Given the description of an element on the screen output the (x, y) to click on. 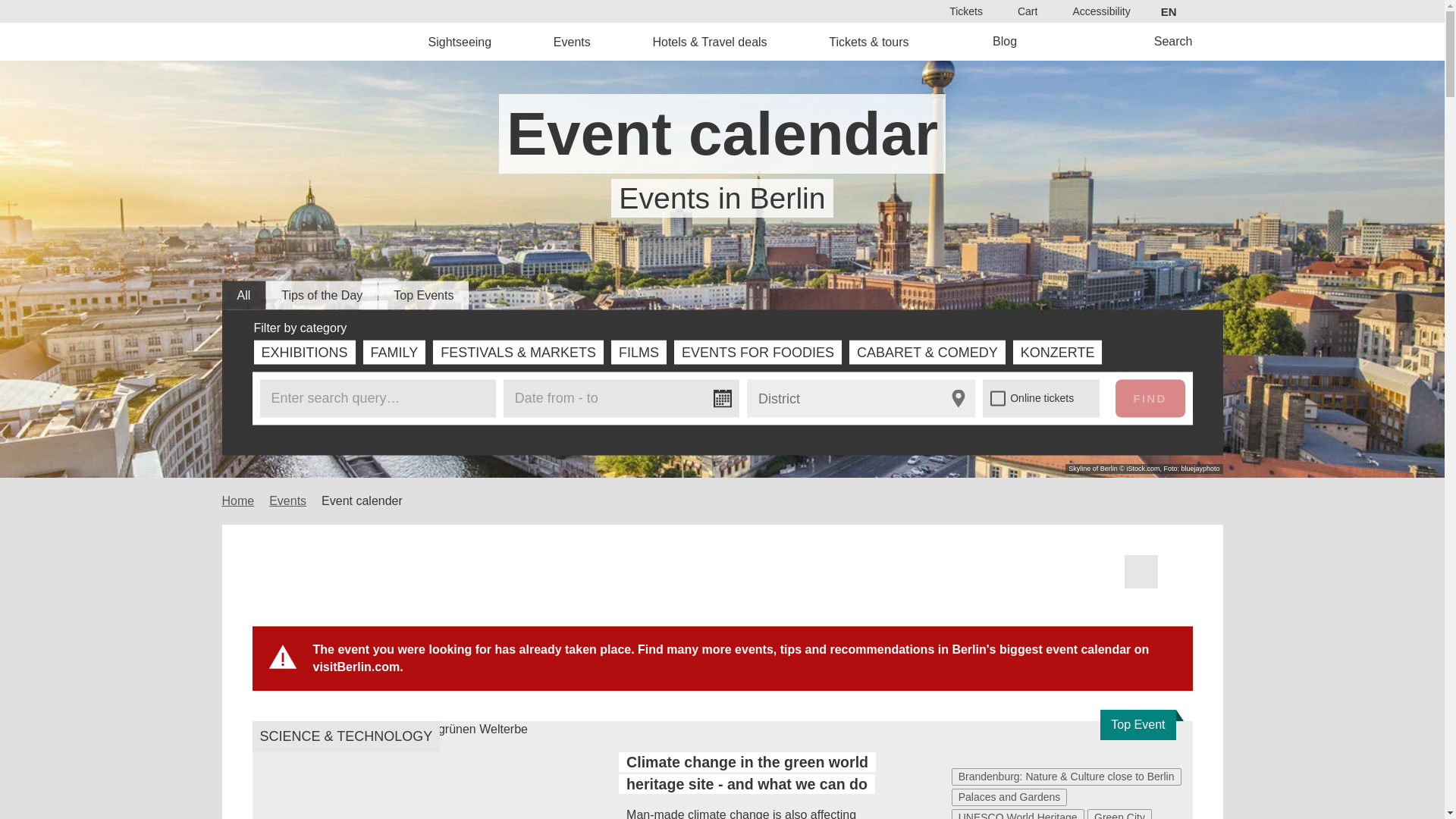
Events (571, 41)
Find (768, 432)
Find (1150, 397)
Home (327, 41)
Sightseeing (460, 41)
